Given the description of an element on the screen output the (x, y) to click on. 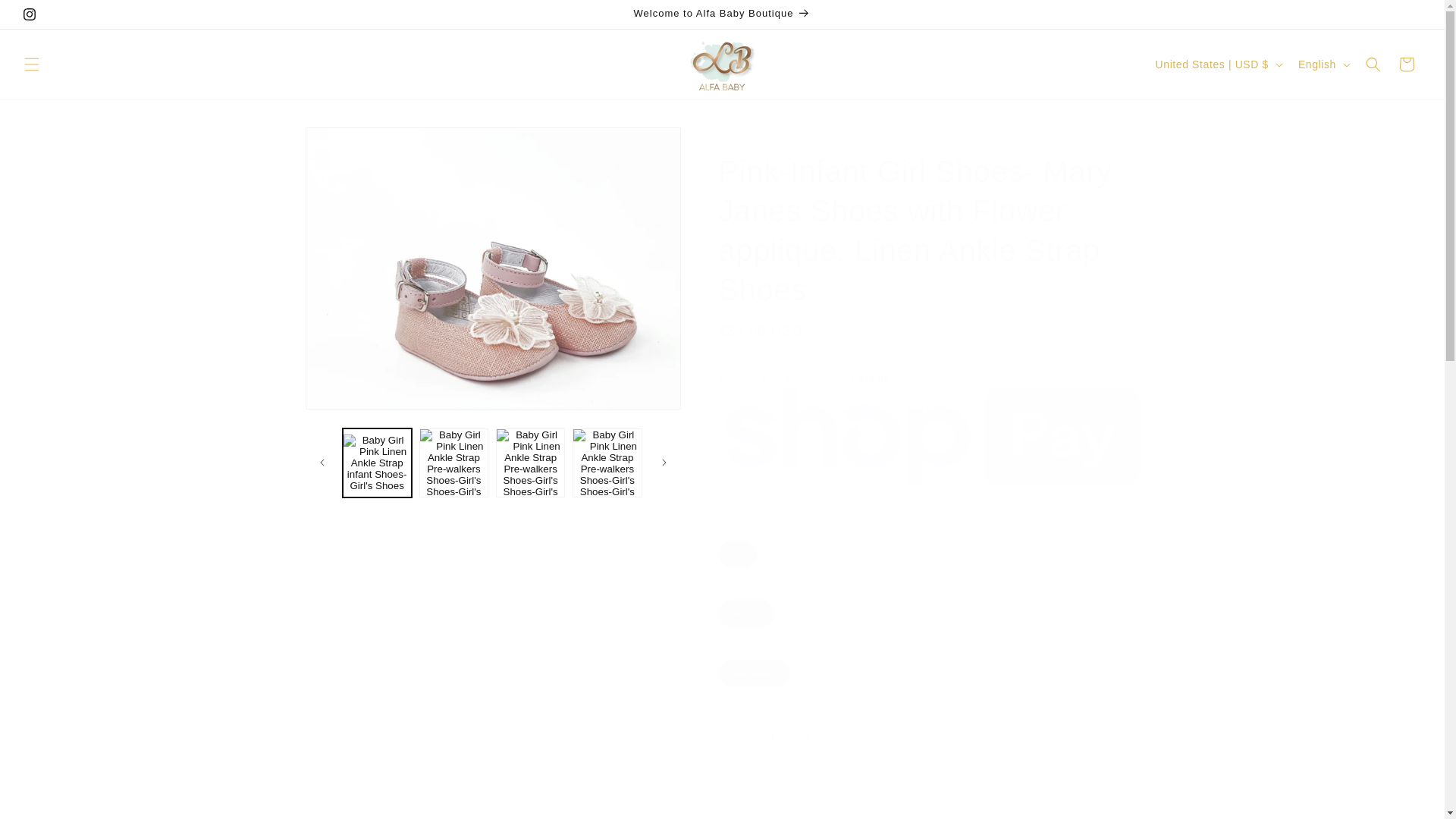
Skip to content (45, 17)
Open media 1 in modal (491, 268)
Instagram (28, 14)
1 (773, 736)
Cart (1406, 64)
